Given the description of an element on the screen output the (x, y) to click on. 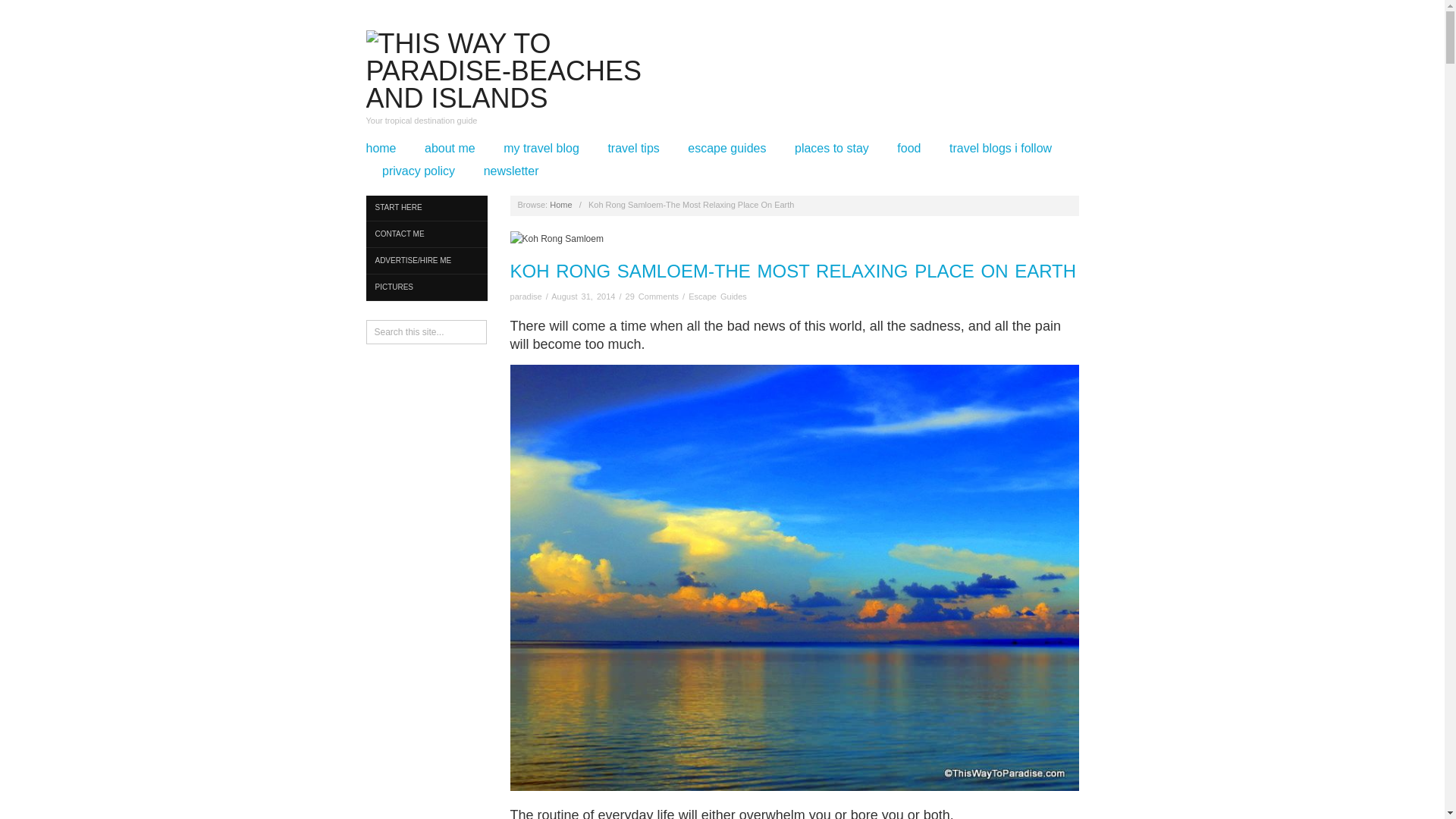
my travel blog (541, 148)
travel tips (633, 148)
This Way To Paradise-Beaches and Islands (561, 204)
about me (450, 148)
escape guides (726, 148)
Koh Rong Samloem-The Most Relaxing Place On Earth (794, 271)
This Way To Paradise-Beaches and Islands (525, 69)
home (380, 148)
Posts by paradise (526, 296)
Search this site... (425, 331)
Search this site... (425, 331)
